Given the description of an element on the screen output the (x, y) to click on. 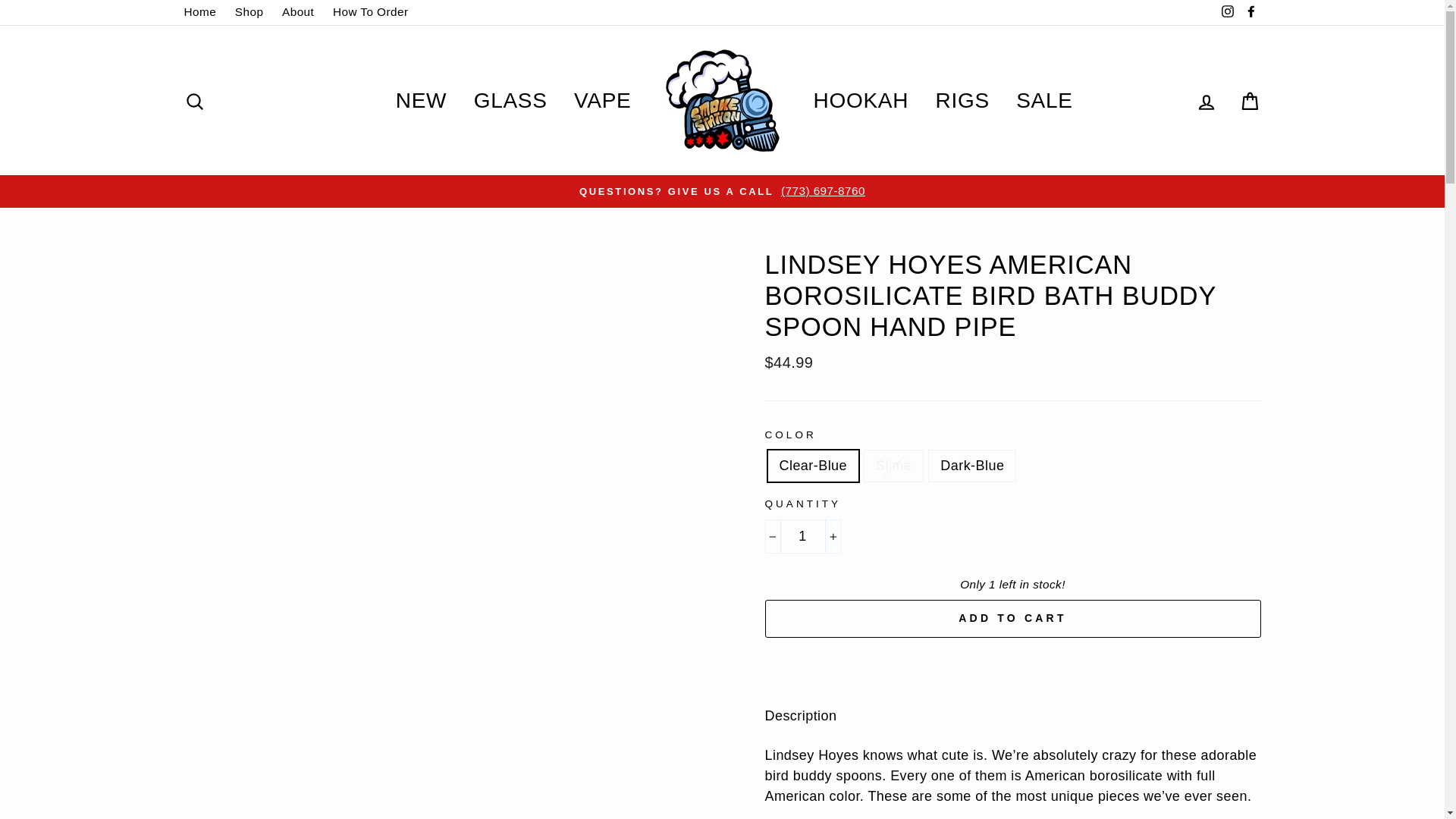
LOG IN (1205, 99)
NEW (421, 99)
RIGS (962, 99)
SEARCH (194, 99)
Home (200, 12)
VAPE (602, 99)
SALE (1043, 99)
Shop (248, 12)
How To Order (369, 12)
About (298, 12)
CART (1249, 99)
1 (802, 536)
